Given the description of an element on the screen output the (x, y) to click on. 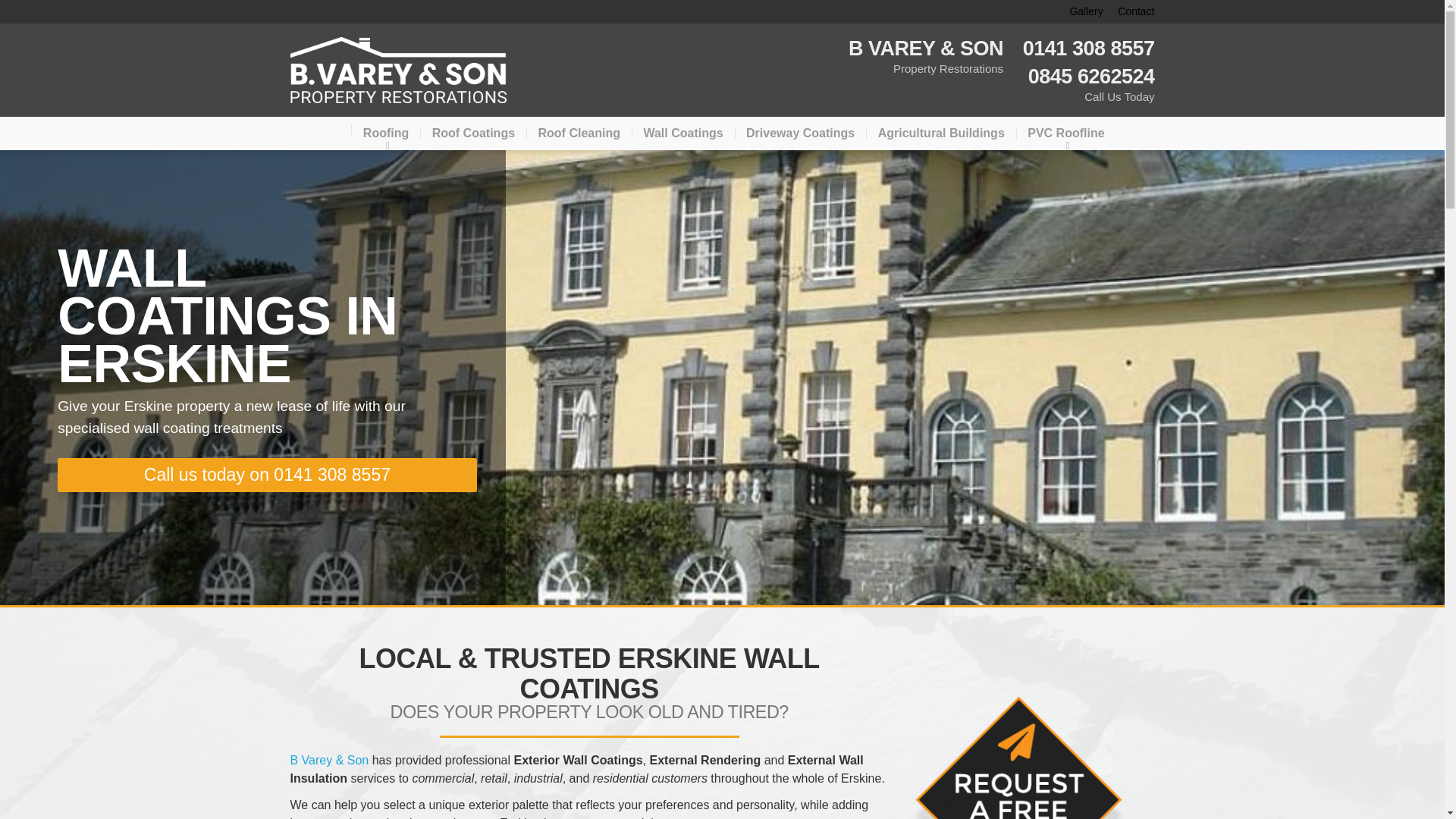
Contact (1130, 11)
Wall Coatings (682, 133)
Agricultural Buildings (940, 133)
Roof Coatings (473, 133)
Driveway Coatings (800, 133)
PVC Roofline (1065, 133)
Gallery (1080, 11)
Roof Cleaning (579, 133)
Roofing (386, 133)
